Given the description of an element on the screen output the (x, y) to click on. 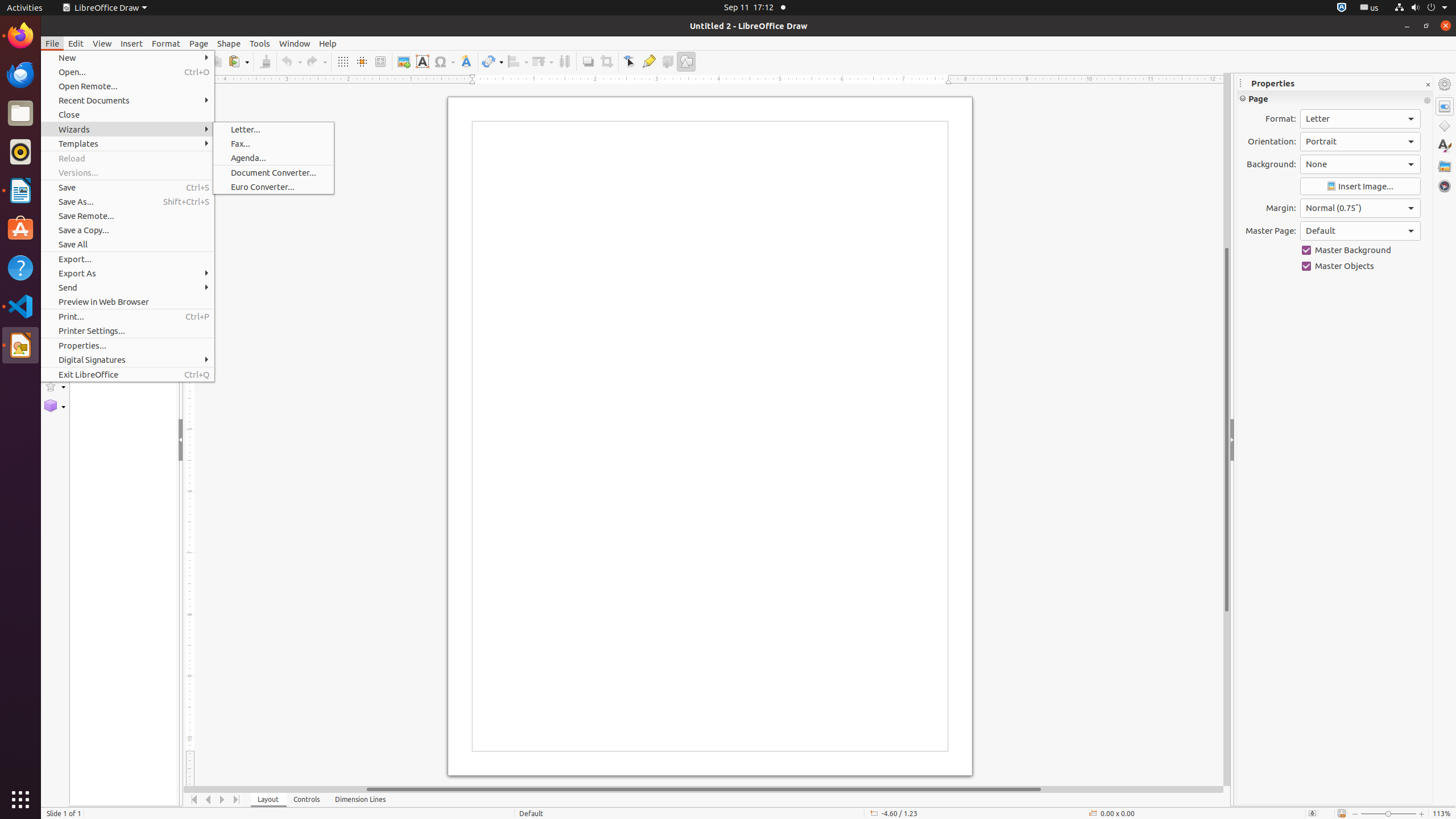
Page Element type: menu (198, 43)
Orientation: Element type: combo-box (1360, 141)
Format Element type: menu (165, 43)
Navigator Element type: radio-button (1444, 185)
File Element type: menu (51, 43)
